Given the description of an element on the screen output the (x, y) to click on. 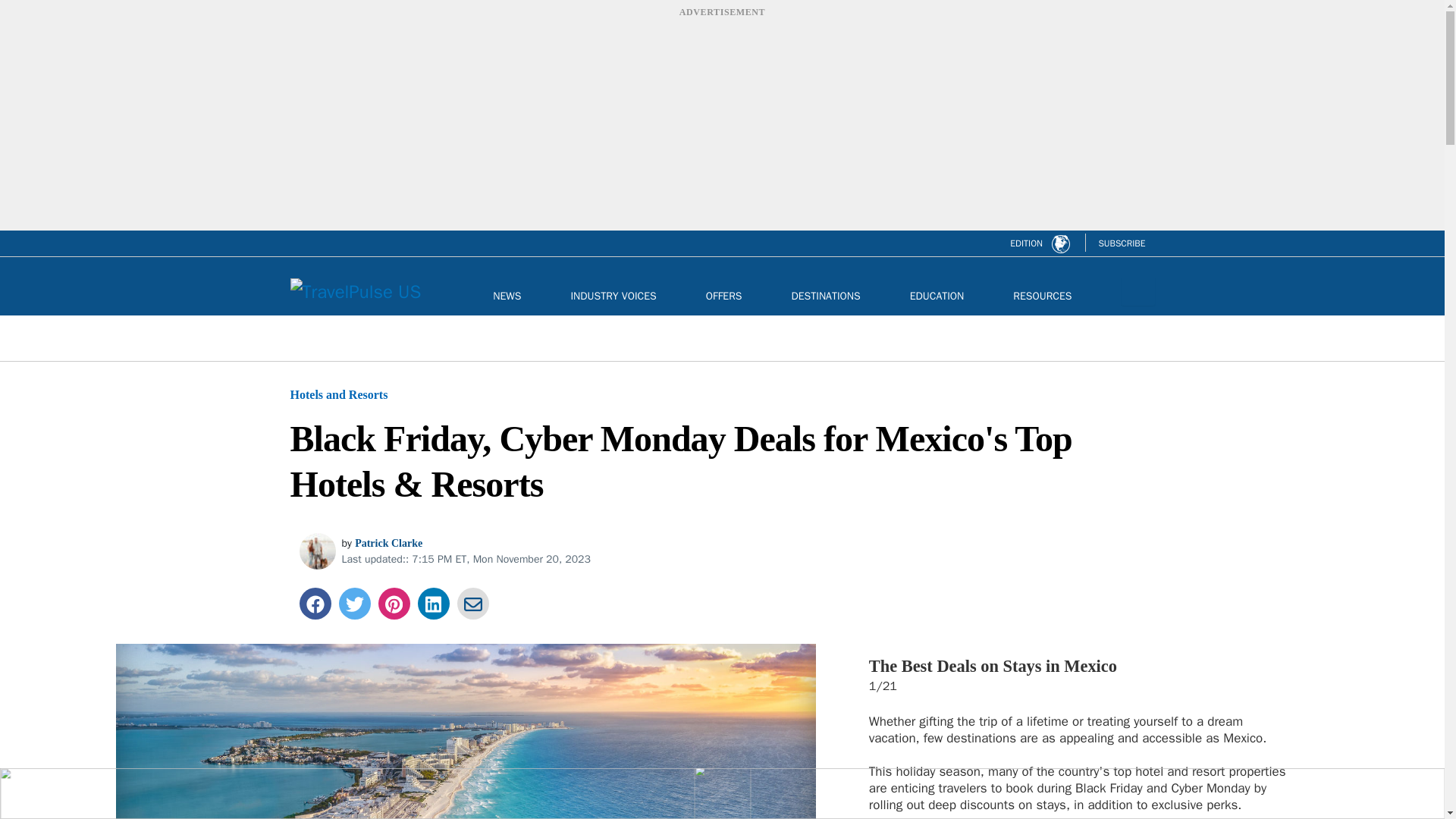
INDUSTRY VOICES (613, 296)
Subscribe (1120, 243)
News (507, 296)
EDITION (1039, 243)
NEWS (507, 296)
Travel Pulse Editions (1060, 244)
TravelPulse US (354, 291)
SUBSCRIBE (1120, 243)
